Given the description of an element on the screen output the (x, y) to click on. 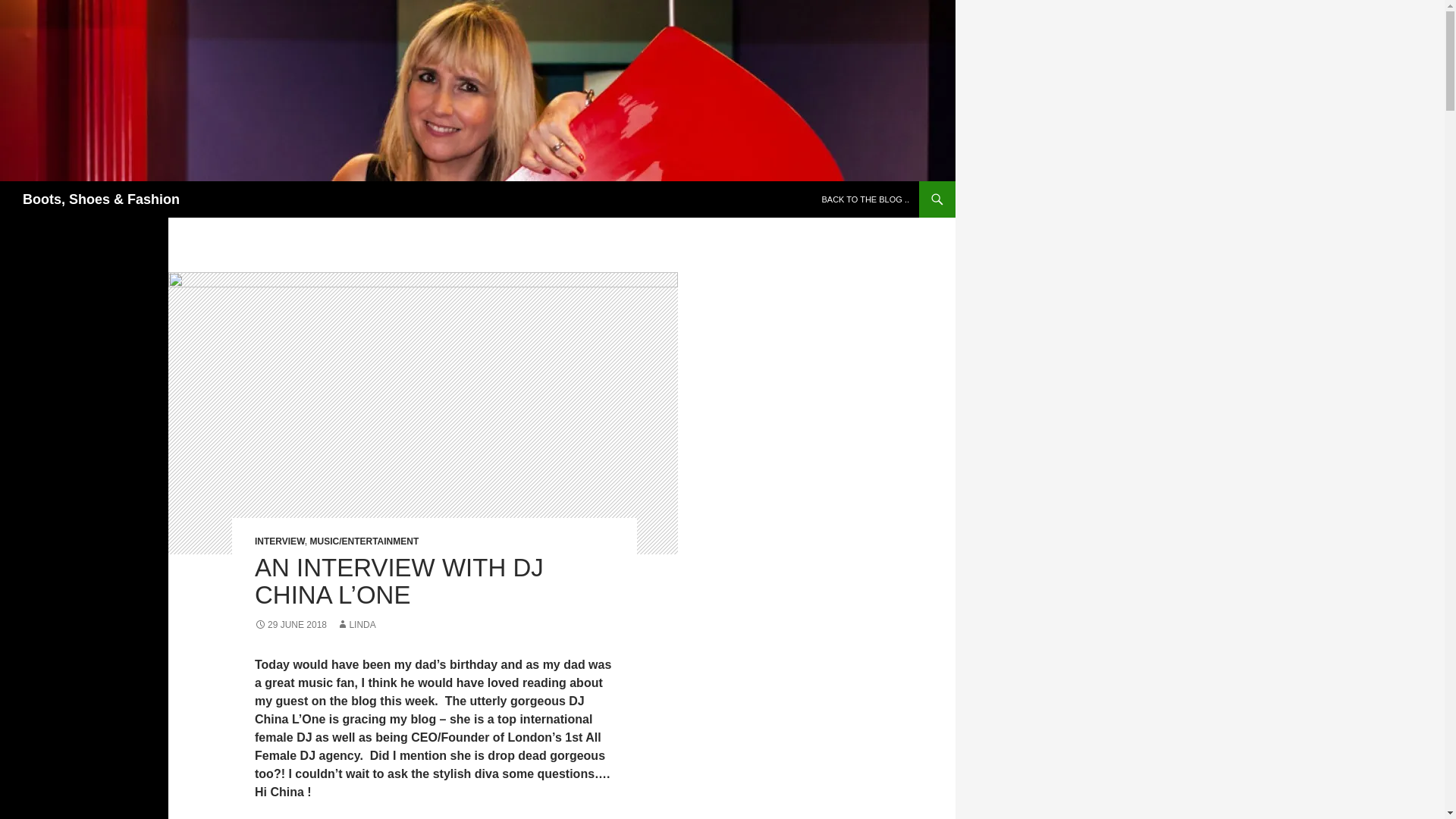
BACK TO THE BLOG .. (865, 198)
INTERVIEW (279, 541)
LINDA (355, 624)
29 JUNE 2018 (290, 624)
